Given the description of an element on the screen output the (x, y) to click on. 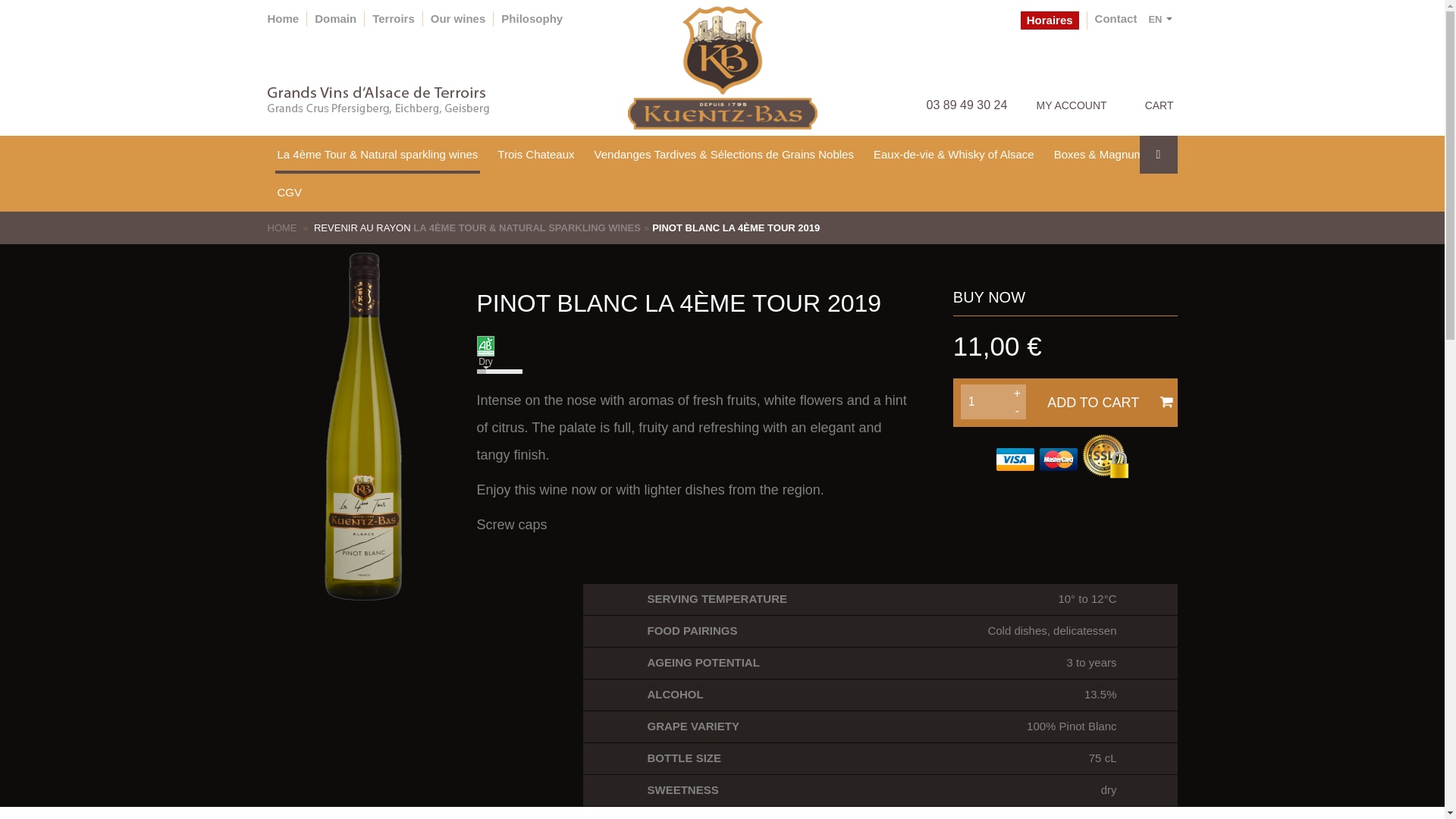
Domain (335, 18)
Philosophy (531, 18)
Our wines (458, 18)
MY ACCOUNT (1071, 86)
Login to your customer account (1071, 86)
Dry (693, 370)
Terroirs (393, 18)
- (1017, 410)
Jean-Baptiste ADAM (282, 18)
Horaires (879, 757)
Domain (879, 789)
Add to cart (1049, 20)
Terroirs (335, 18)
